Given the description of an element on the screen output the (x, y) to click on. 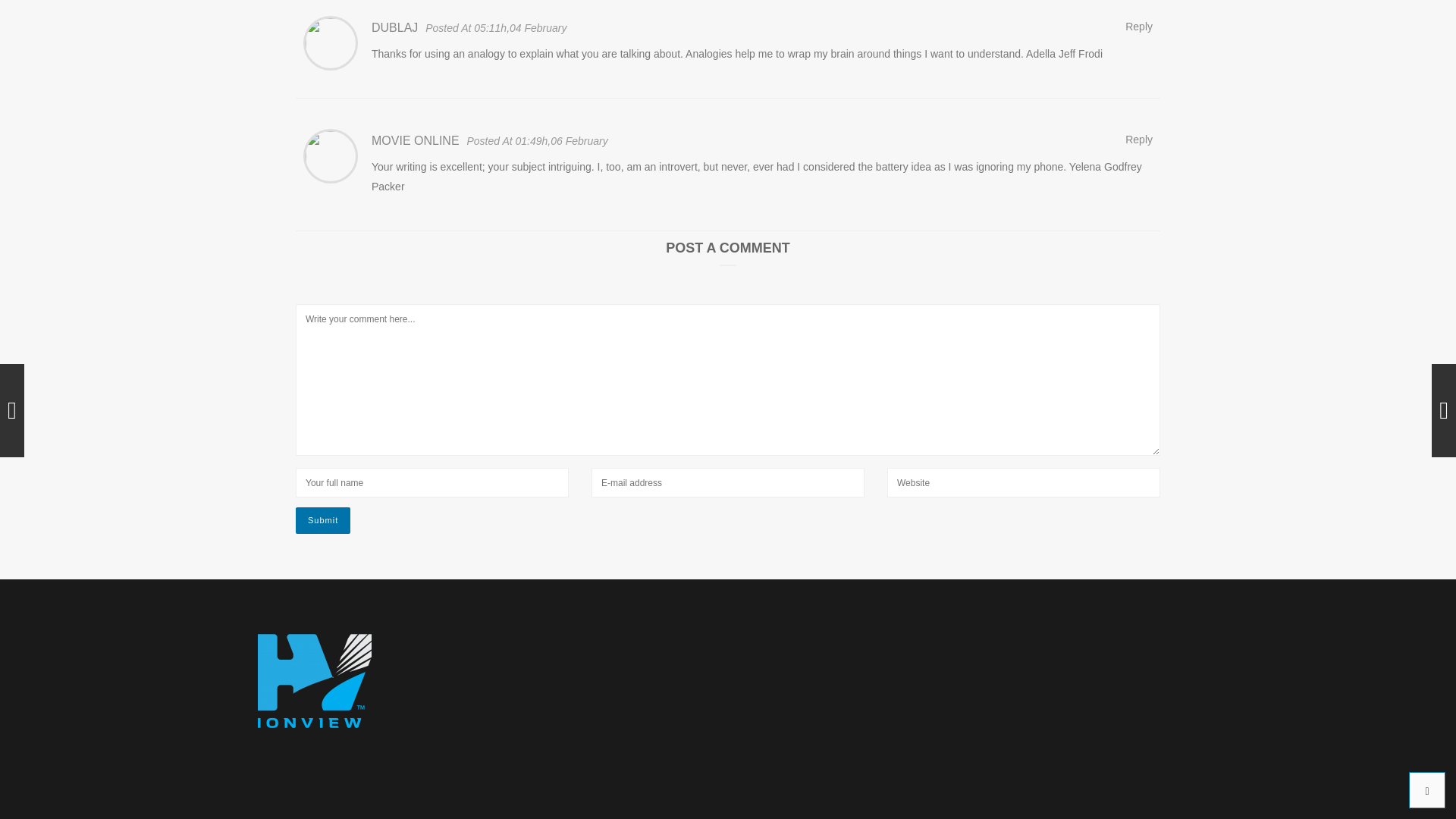
Submit (322, 519)
